Given the description of an element on the screen output the (x, y) to click on. 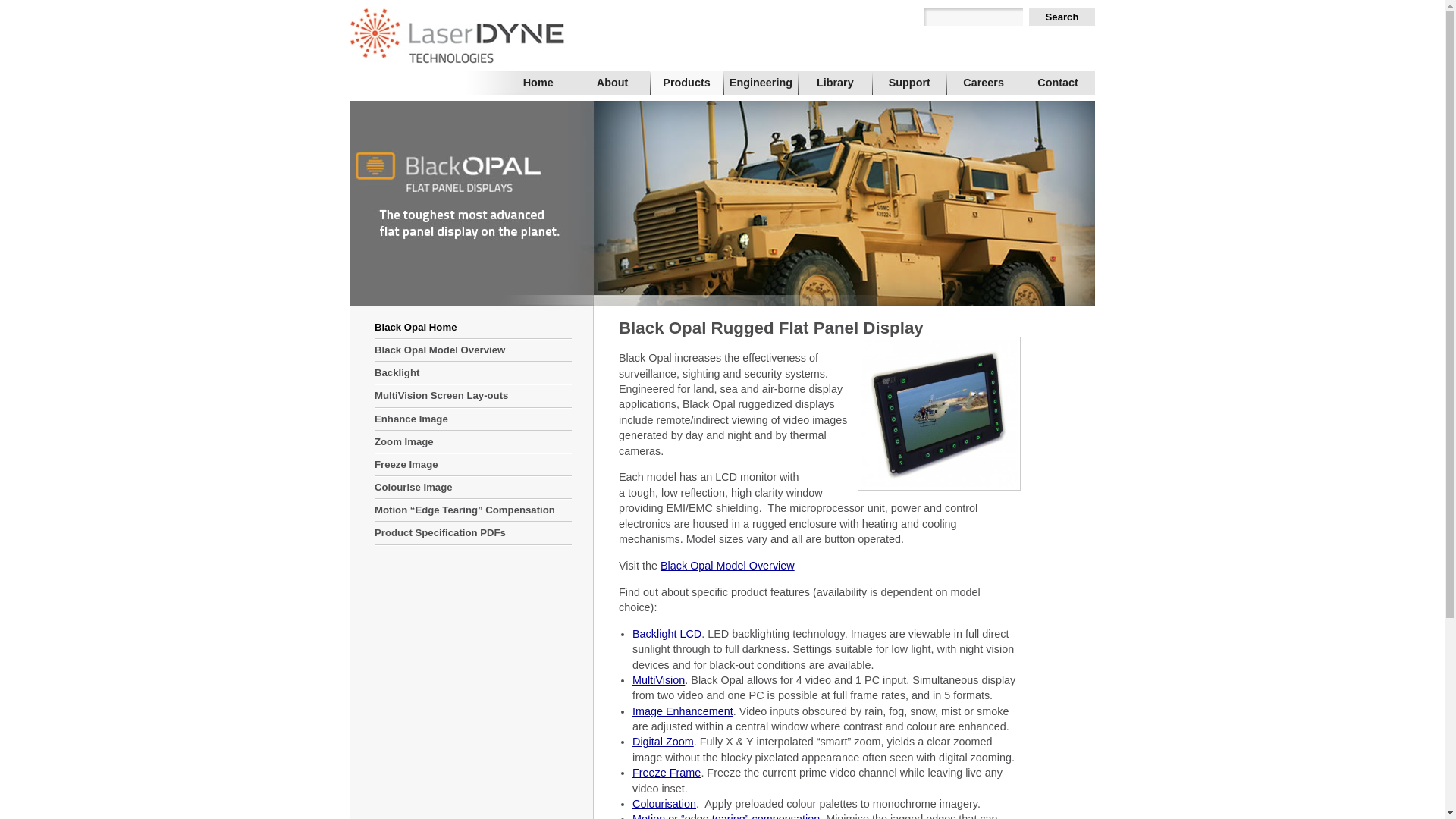
Colourise Image Element type: text (472, 487)
Search Element type: text (1062, 16)
Enhance Image Element type: text (472, 419)
Colourisation Element type: text (664, 803)
Careers Element type: text (983, 82)
Black Opal Home Element type: text (472, 327)
MultiVision Screen Lay-outs Element type: text (472, 396)
Engineering Element type: text (760, 82)
Backlight LCD Element type: text (666, 633)
Digital Zoom Element type: text (662, 741)
About Element type: text (612, 82)
Support Element type: text (909, 82)
Library Element type: text (834, 82)
Freeze Image Element type: text (472, 465)
Freeze Frame Element type: text (666, 772)
Backlight Element type: text (472, 373)
Products Element type: text (686, 82)
MultiVision Element type: text (658, 680)
Black Opal Model Overview Element type: text (472, 350)
Zoom Image Element type: text (472, 442)
Image Enhancement Element type: text (682, 711)
Black Opal Model Overview Element type: text (727, 565)
Black Opal Rugged Flat Panel Displays by LaserDYNE Element type: hover (938, 413)
Contact Element type: text (1057, 82)
Product Specification PDFs Element type: text (472, 533)
Home Element type: text (538, 82)
